Given the description of an element on the screen output the (x, y) to click on. 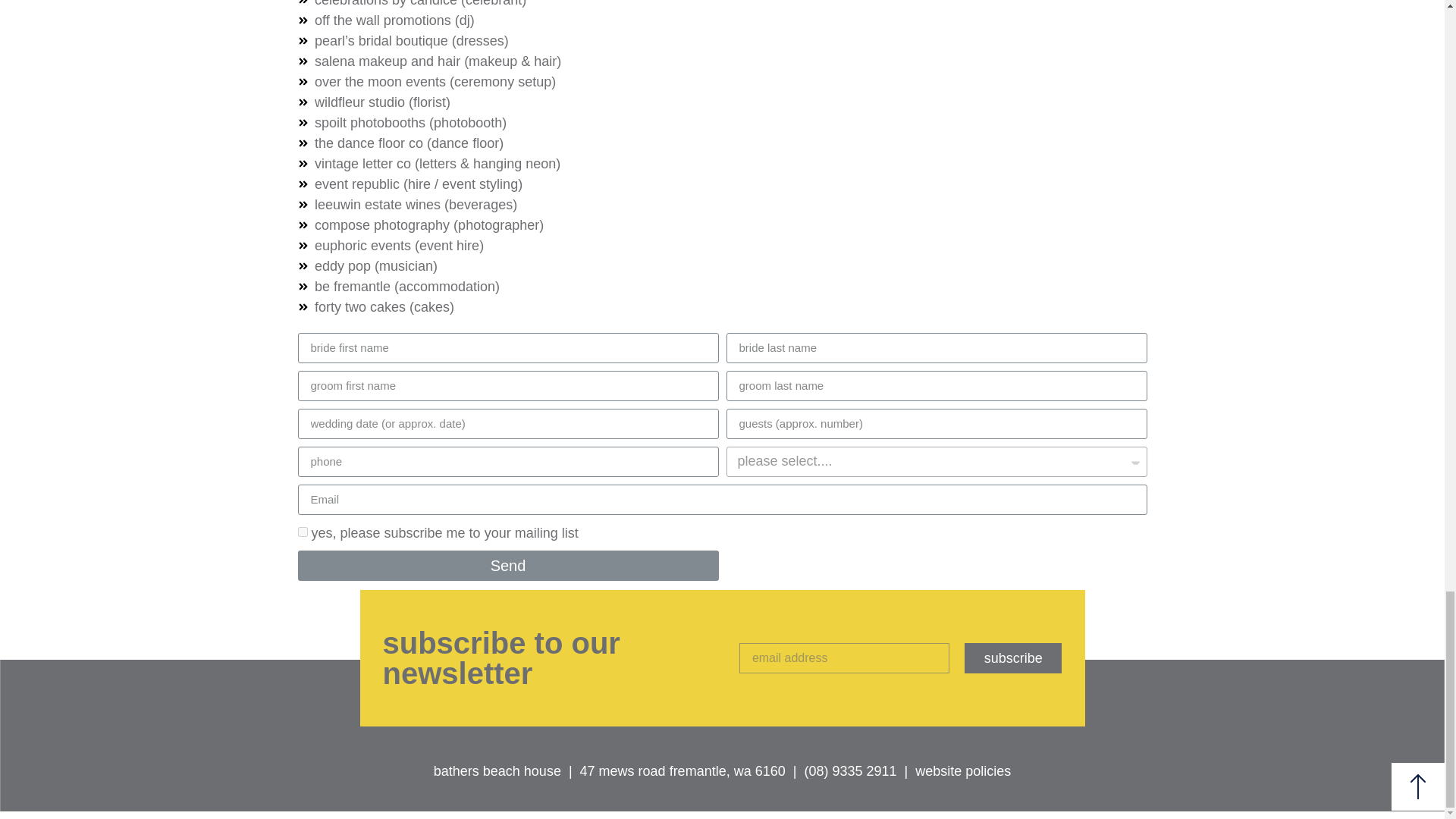
on (302, 532)
subscribe (1012, 657)
Send (507, 565)
